Given the description of an element on the screen output the (x, y) to click on. 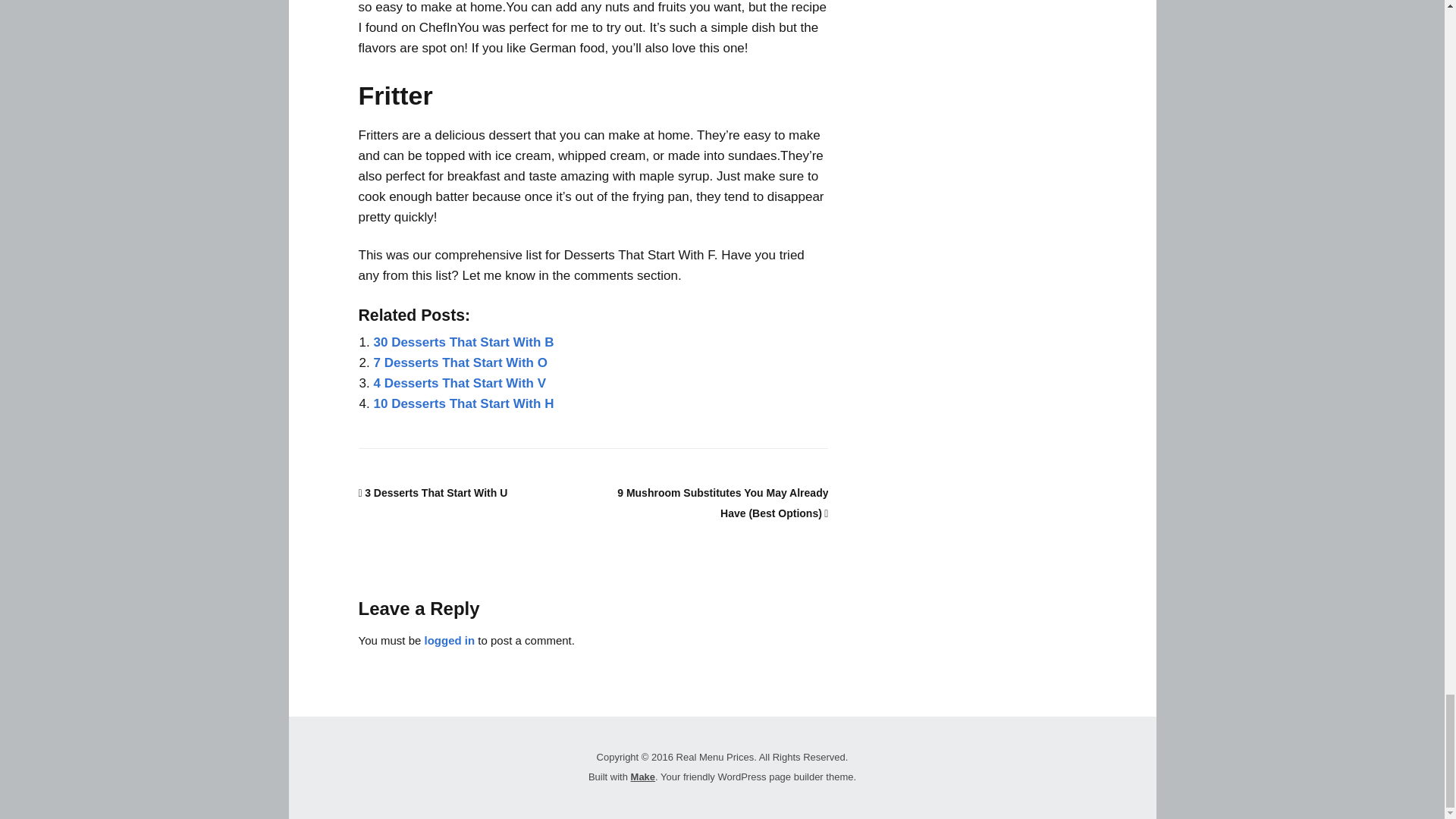
4 Desserts That Start With V (459, 382)
7 Desserts That Start With O (459, 362)
30 Desserts That Start With B (462, 341)
4 Desserts That Start With V (459, 382)
logged in (450, 640)
10 Desserts That Start With H (462, 403)
3 Desserts That Start With U (432, 492)
Make (643, 776)
7 Desserts That Start With O (459, 362)
10 Desserts That Start With H (462, 403)
